Given the description of an element on the screen output the (x, y) to click on. 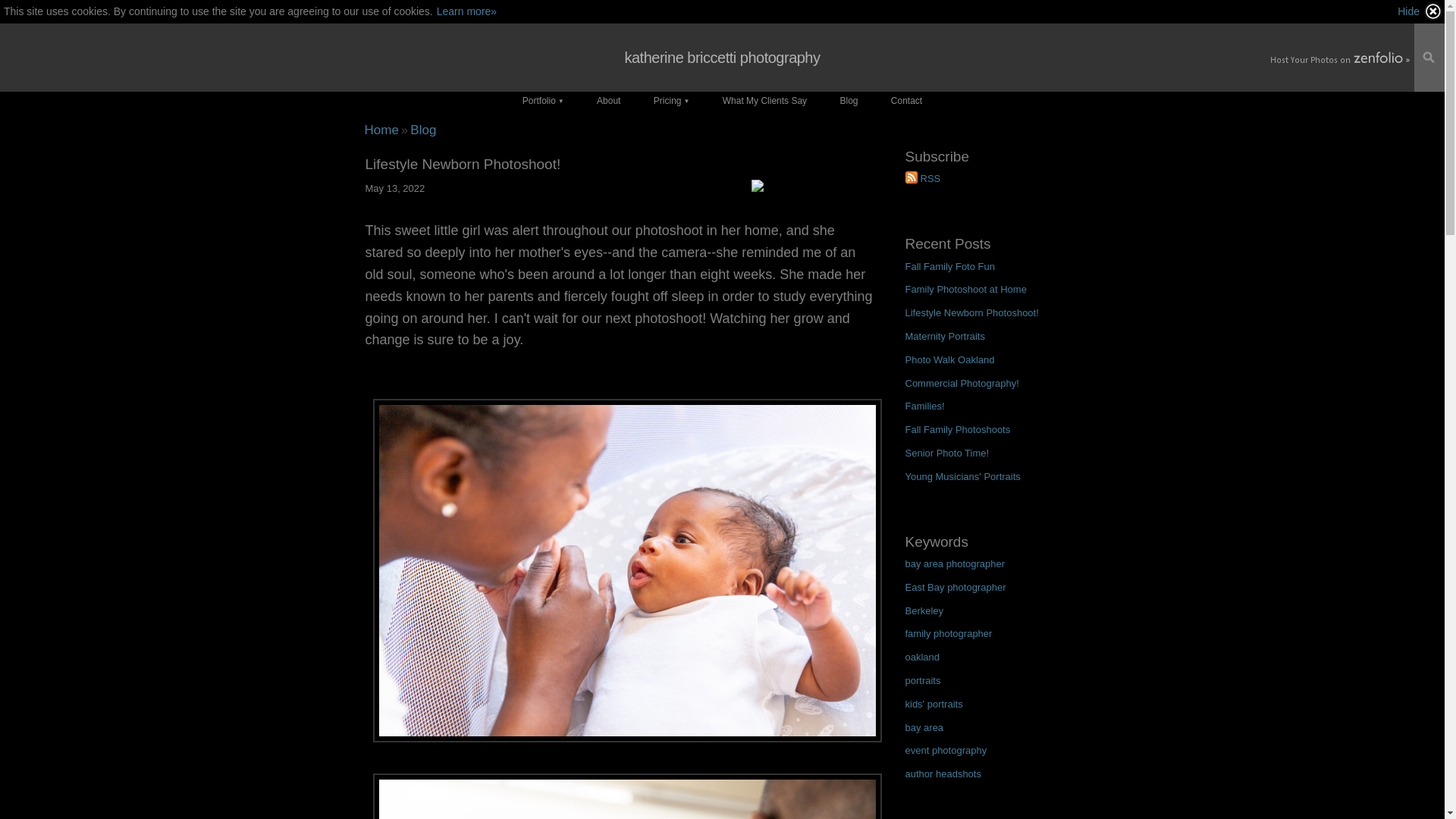
Contact (906, 100)
What My Clients Say (764, 100)
About (607, 100)
Blog (422, 129)
Home (380, 129)
Host Your Photos on Zenfolio (1337, 58)
Blog (848, 100)
katherine briccetti photography (722, 56)
katherine briccetti photography (722, 56)
katherine briccetti photography (380, 129)
Hide (1419, 11)
